Given the description of an element on the screen output the (x, y) to click on. 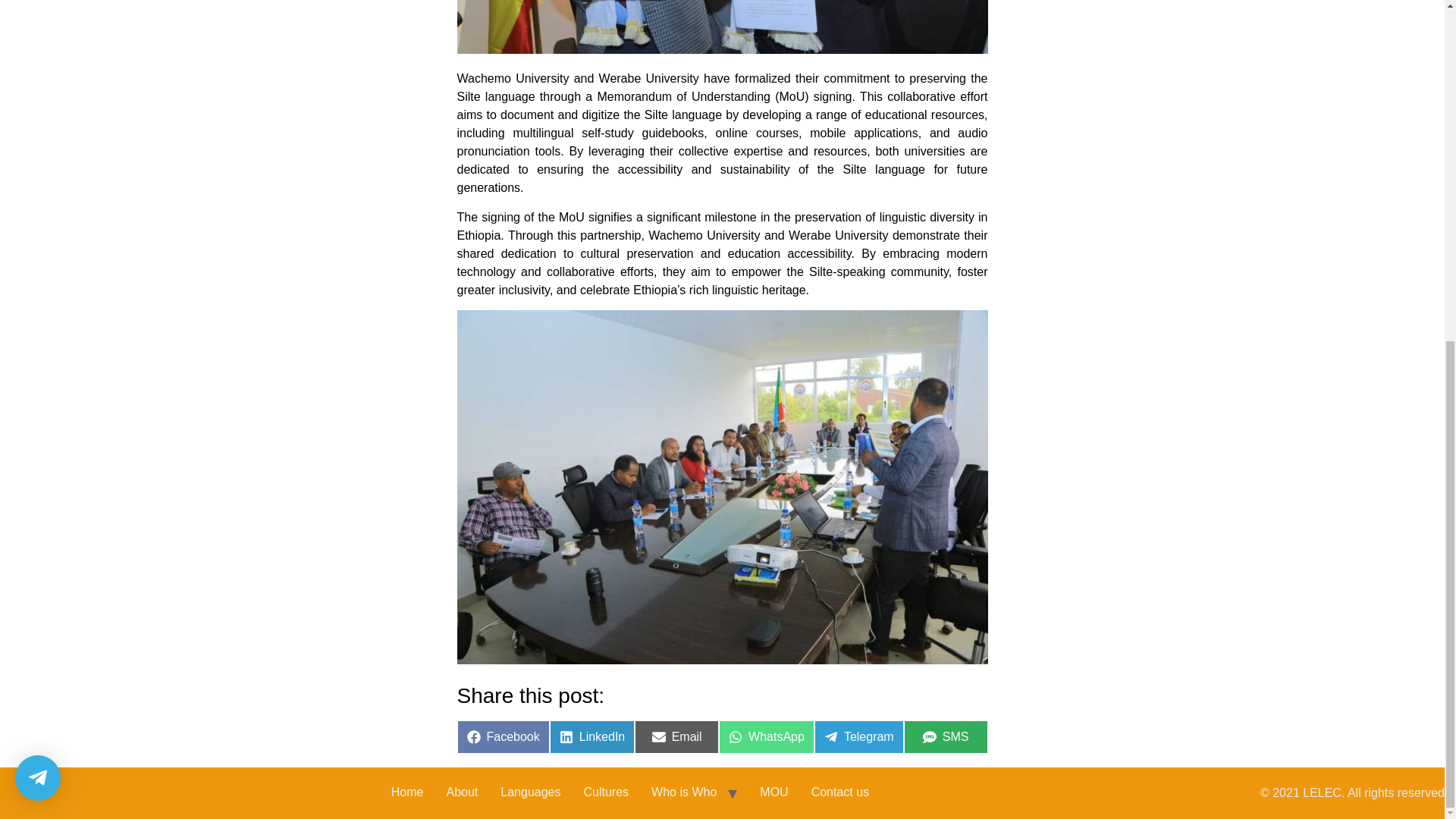
Email (676, 736)
WhatsApp (766, 736)
LinkedIn (592, 736)
Facebook (502, 736)
Contact us (839, 792)
MOU (773, 792)
Telegram (858, 736)
About (462, 792)
Who is Who (684, 792)
SMS (946, 736)
Cultures (606, 792)
Languages (530, 792)
Home (407, 792)
